Given the description of an element on the screen output the (x, y) to click on. 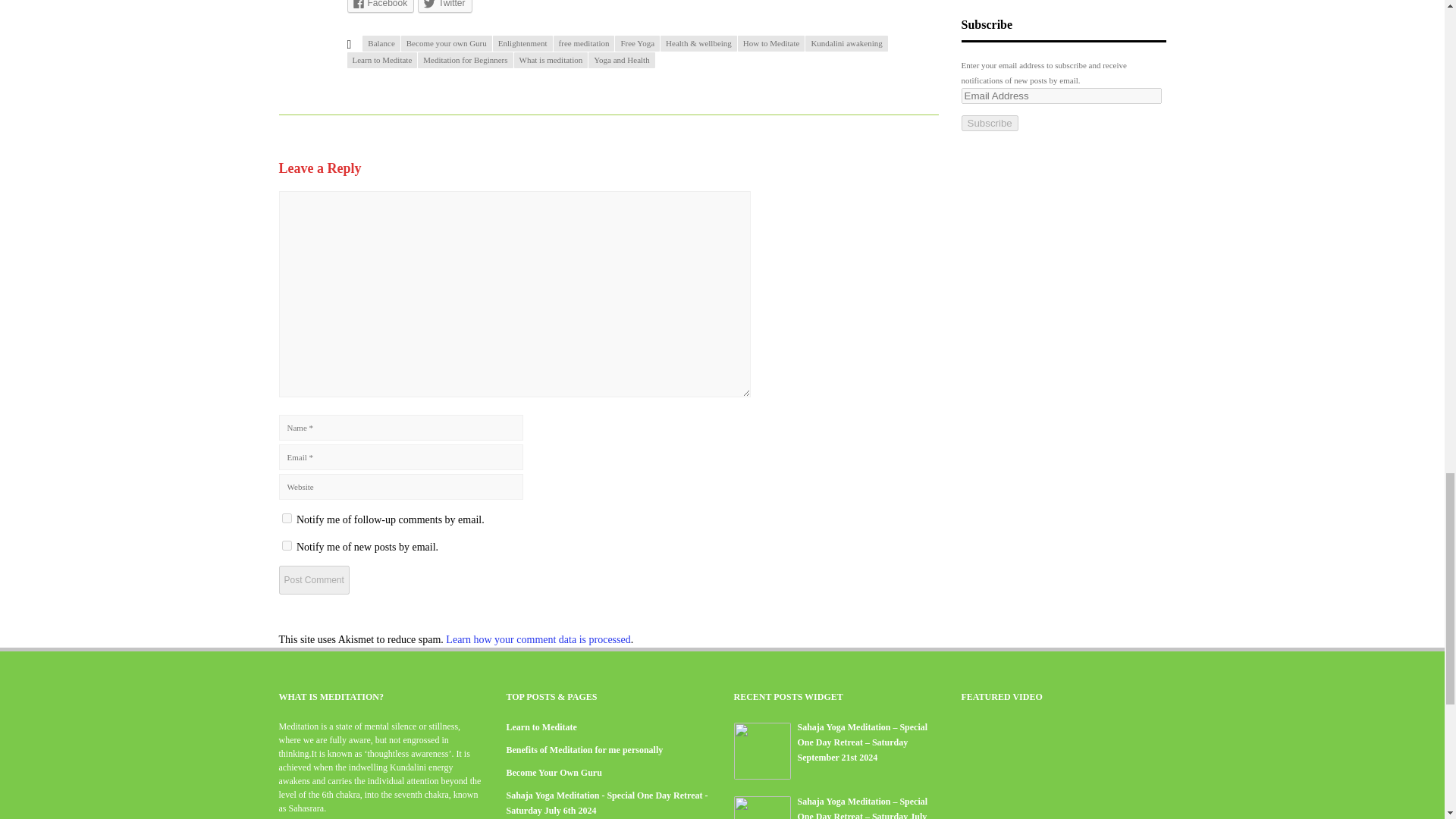
Click to share on Twitter (444, 6)
Post Comment (314, 579)
subscribe (287, 518)
subscribe (287, 545)
Click to share on Facebook (380, 6)
